Given the description of an element on the screen output the (x, y) to click on. 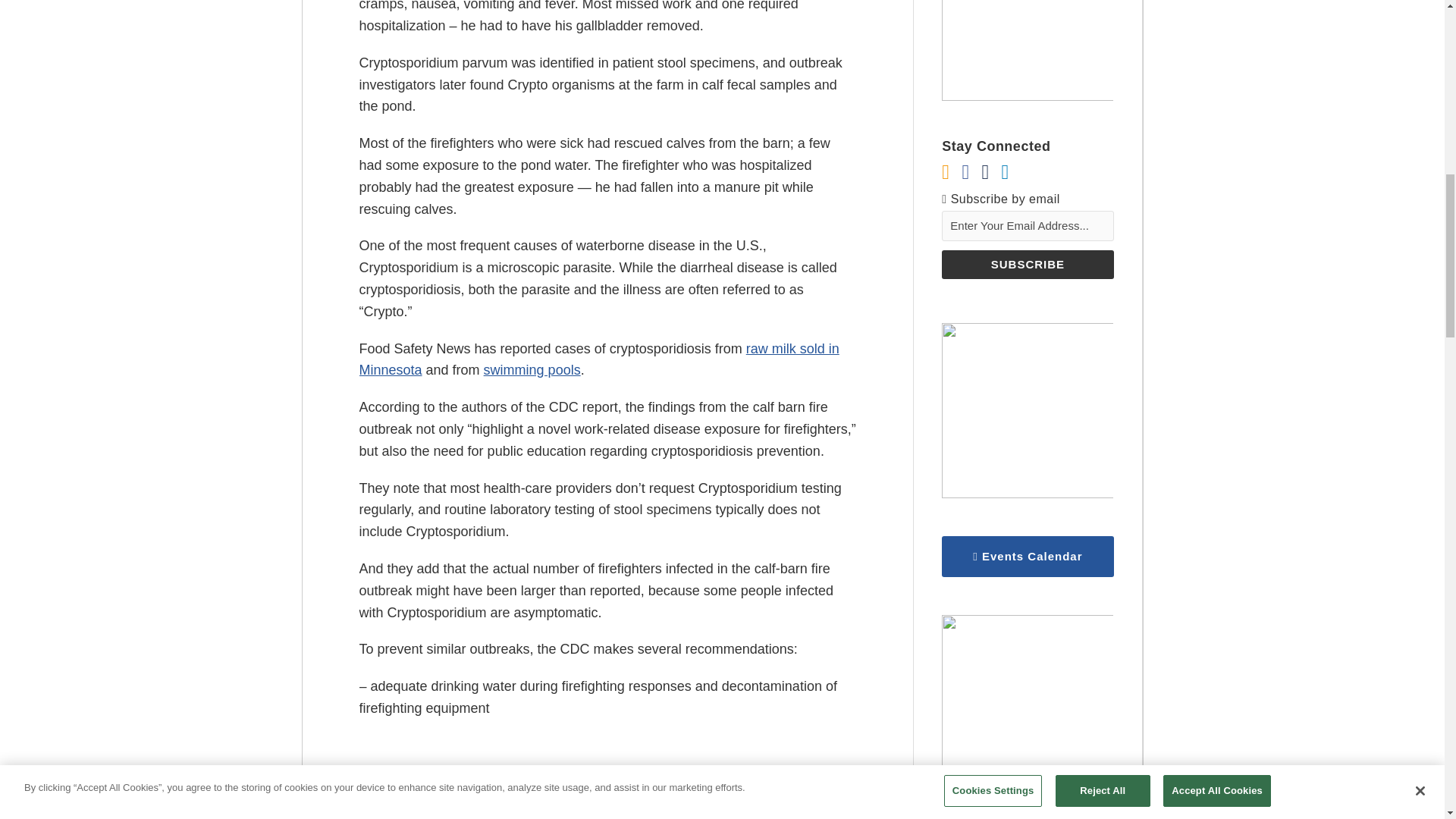
Events Calendar (1027, 556)
Subscribe (1027, 264)
raw milk sold in Minnesota (599, 359)
Subscribe (1027, 264)
swimming pools (531, 369)
